Given the description of an element on the screen output the (x, y) to click on. 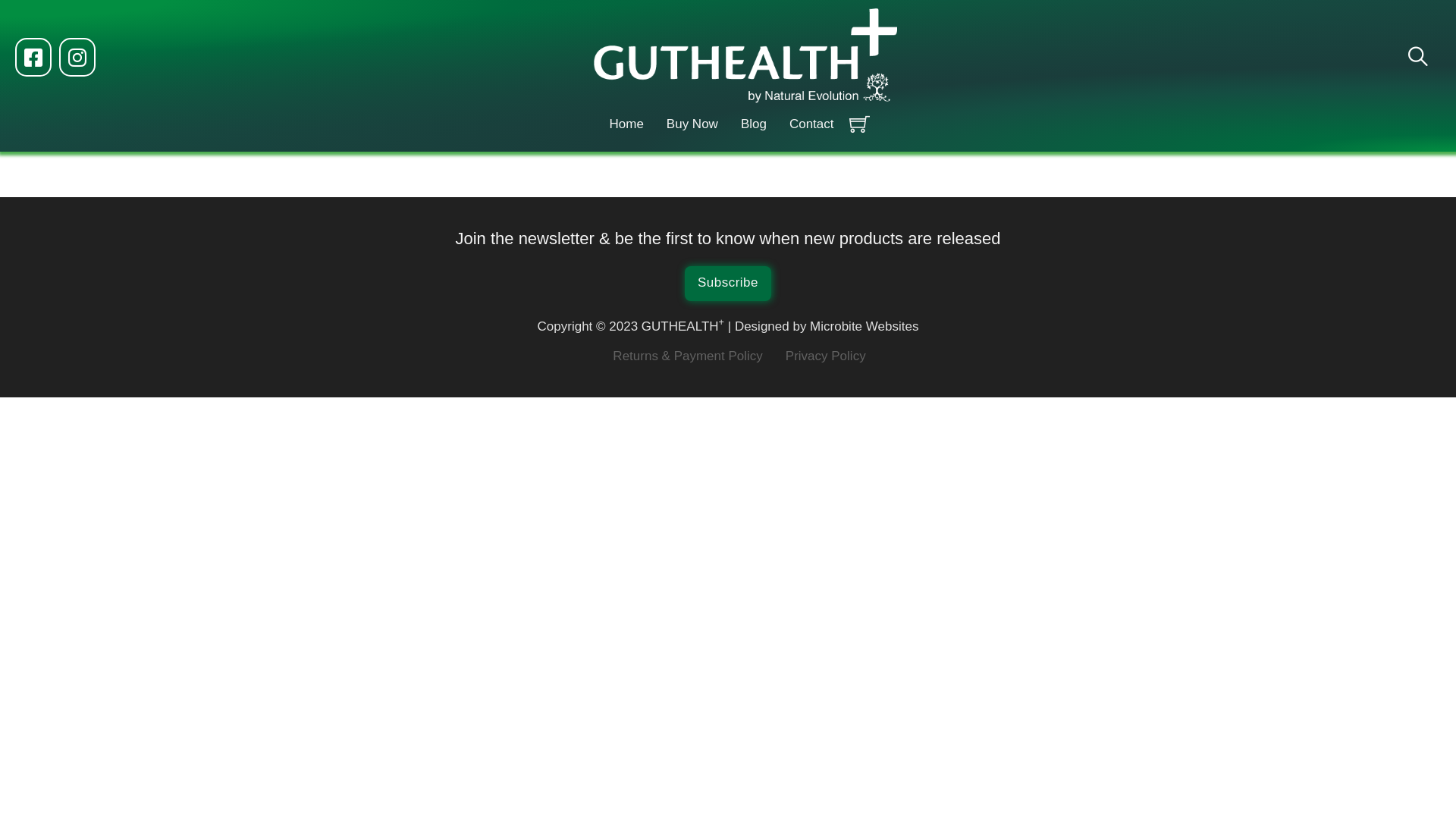
Subscribe Element type: text (727, 283)
Home Element type: text (625, 124)
Blog Element type: text (753, 124)
Contact Element type: text (811, 124)
Microbite Websites Element type: text (863, 326)
Privacy Policy Element type: text (825, 356)
Buy Now Element type: text (692, 124)
Returns & Payment Policy Element type: text (687, 356)
